Given the description of an element on the screen output the (x, y) to click on. 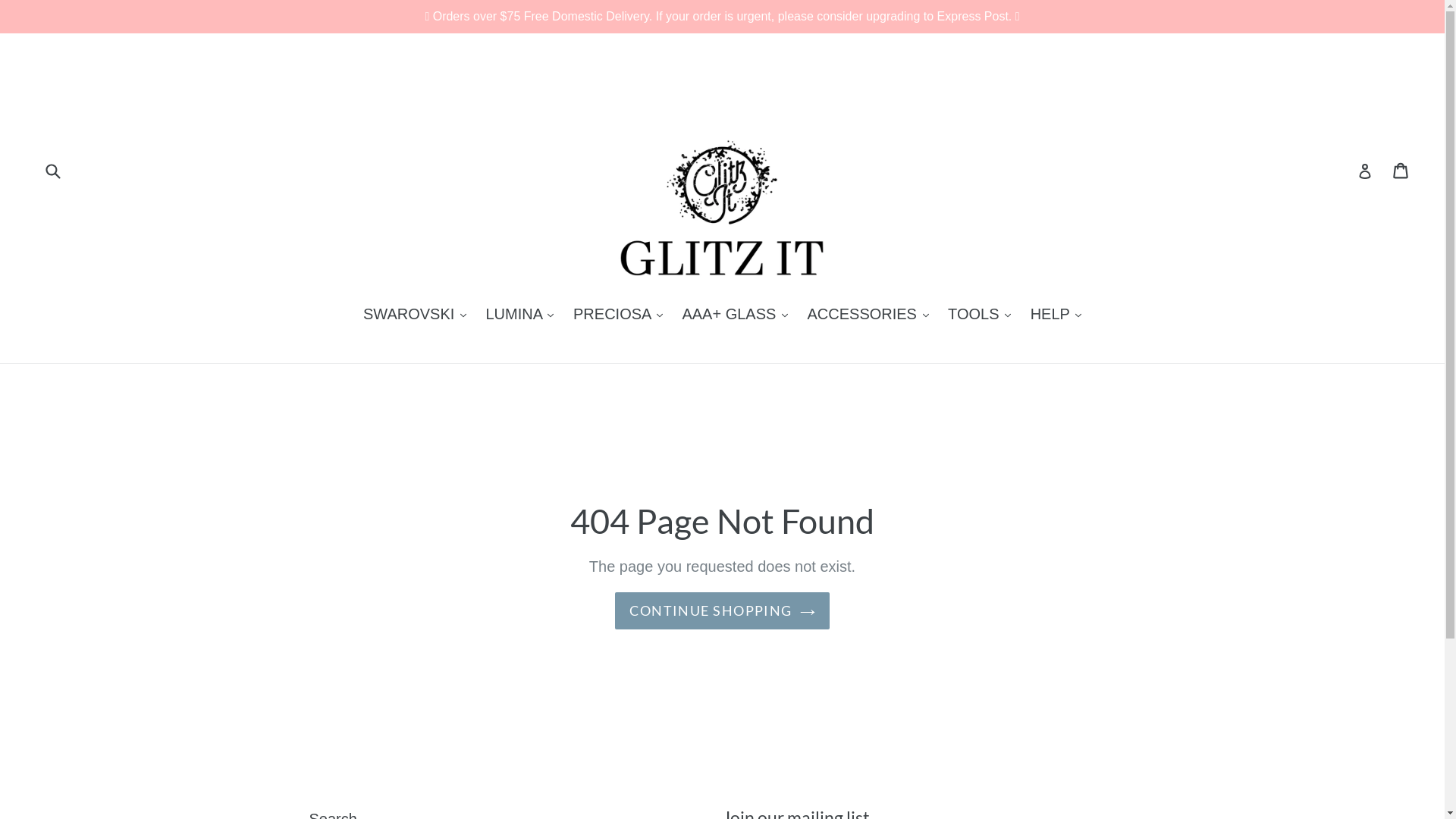
Submit Element type: text (51, 169)
Cart
Cart Element type: text (1401, 169)
CONTINUE SHOPPING Element type: text (721, 610)
Log in Element type: text (1364, 169)
